Given the description of an element on the screen output the (x, y) to click on. 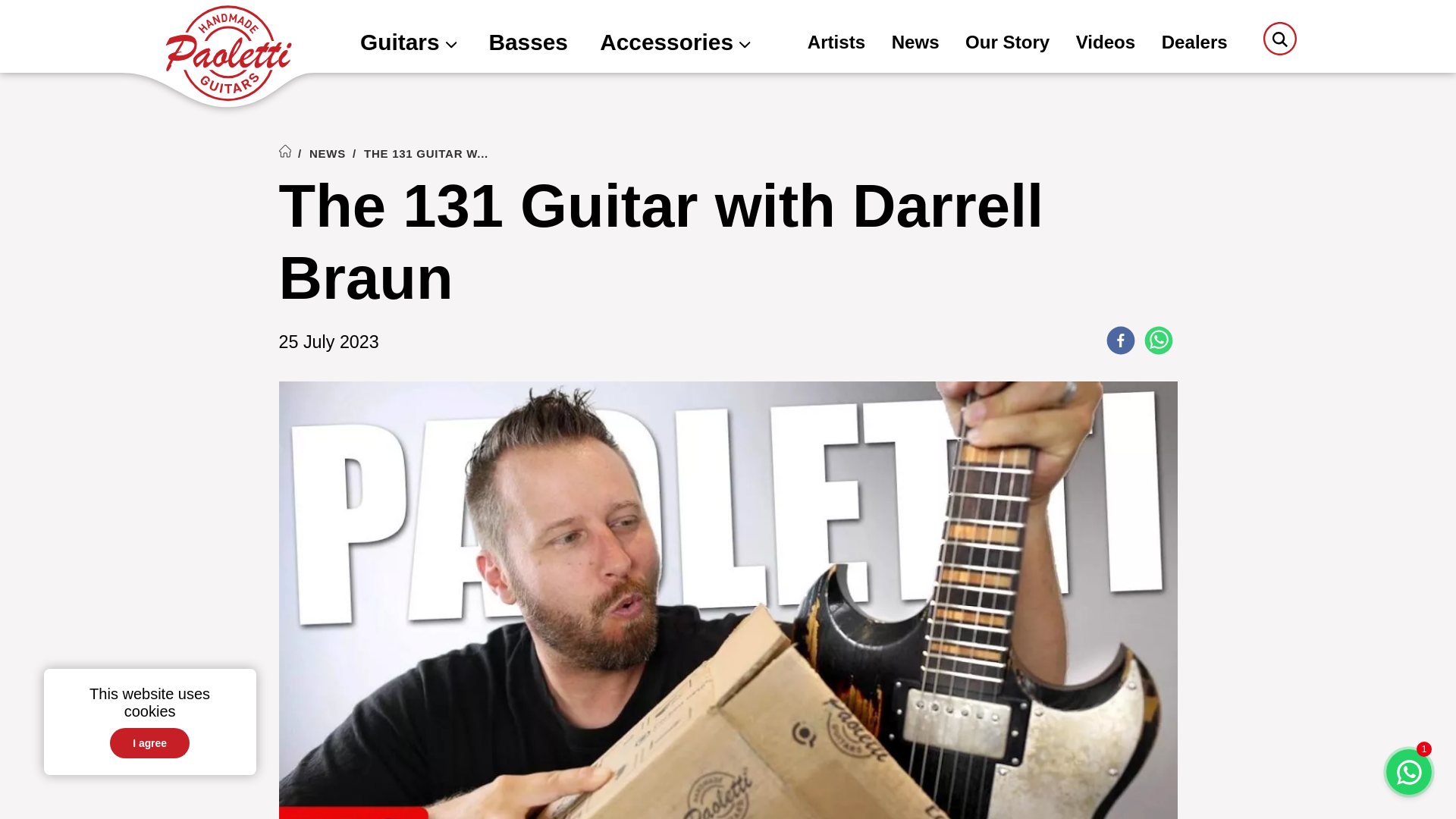
Dealers (1194, 43)
Accessories (675, 43)
Guitars (408, 43)
News (915, 43)
Artists (836, 43)
NEWS (327, 153)
Videos (1105, 43)
Our Story (1007, 43)
Basses (527, 43)
